Given the description of an element on the screen output the (x, y) to click on. 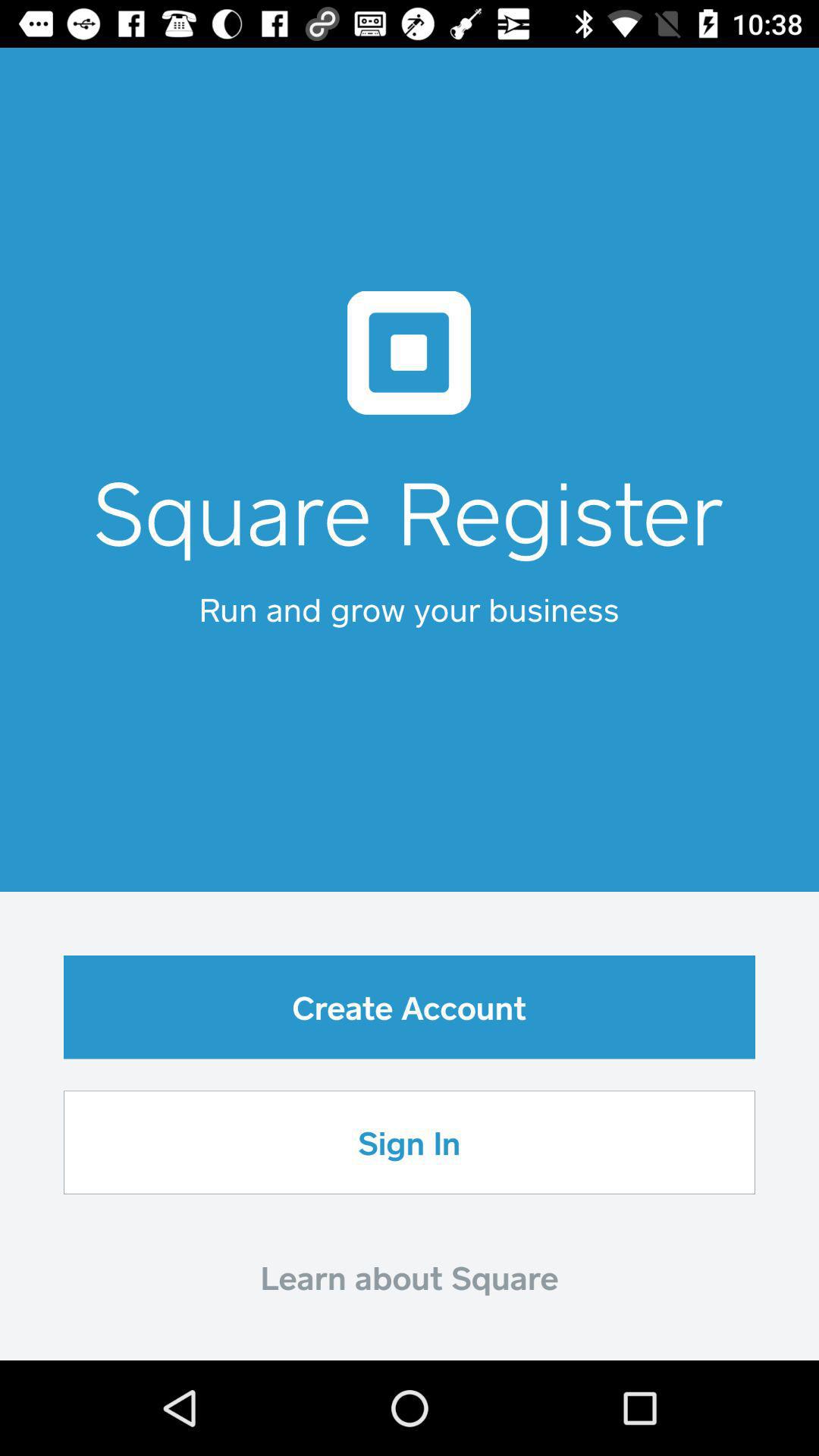
select learn about square item (409, 1277)
